Given the description of an element on the screen output the (x, y) to click on. 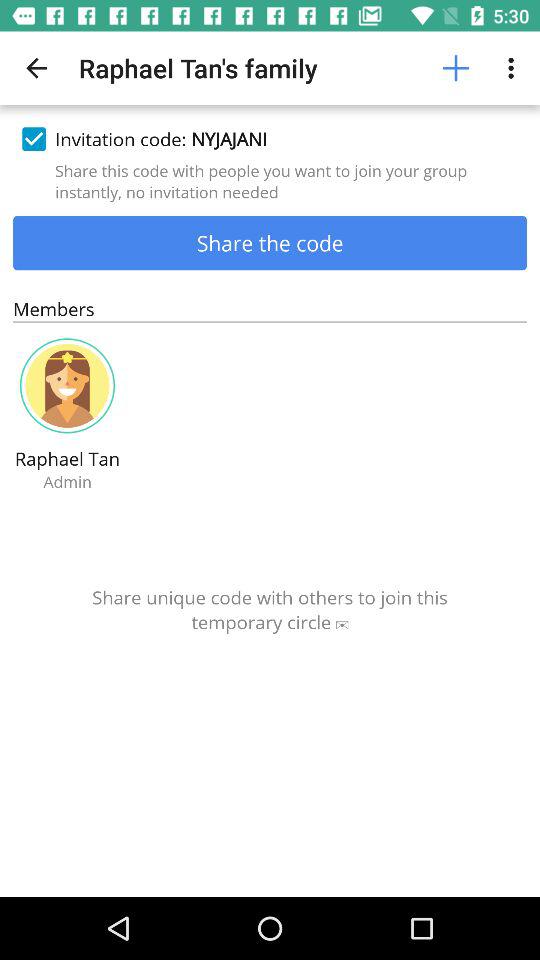
press item above the invitation code: nyjajani item (455, 67)
